Given the description of an element on the screen output the (x, y) to click on. 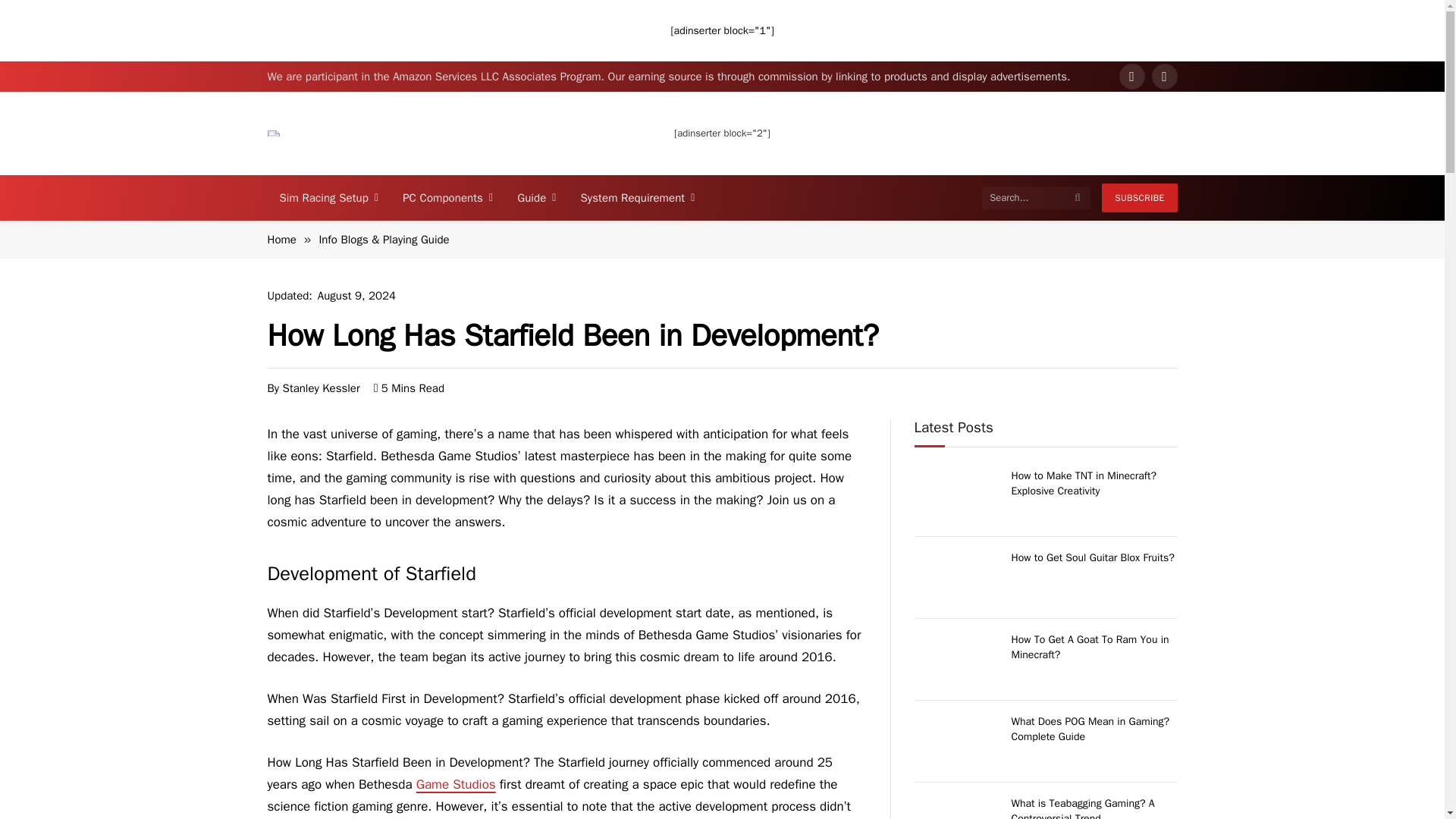
System Requirement (638, 197)
Pinterest (1163, 76)
Guide (536, 197)
SUBSCRIBE (1139, 197)
Facebook (1131, 76)
Sim Racing Setup (328, 197)
Posts by Stanley Kessler (320, 386)
PC Components (447, 197)
